Given the description of an element on the screen output the (x, y) to click on. 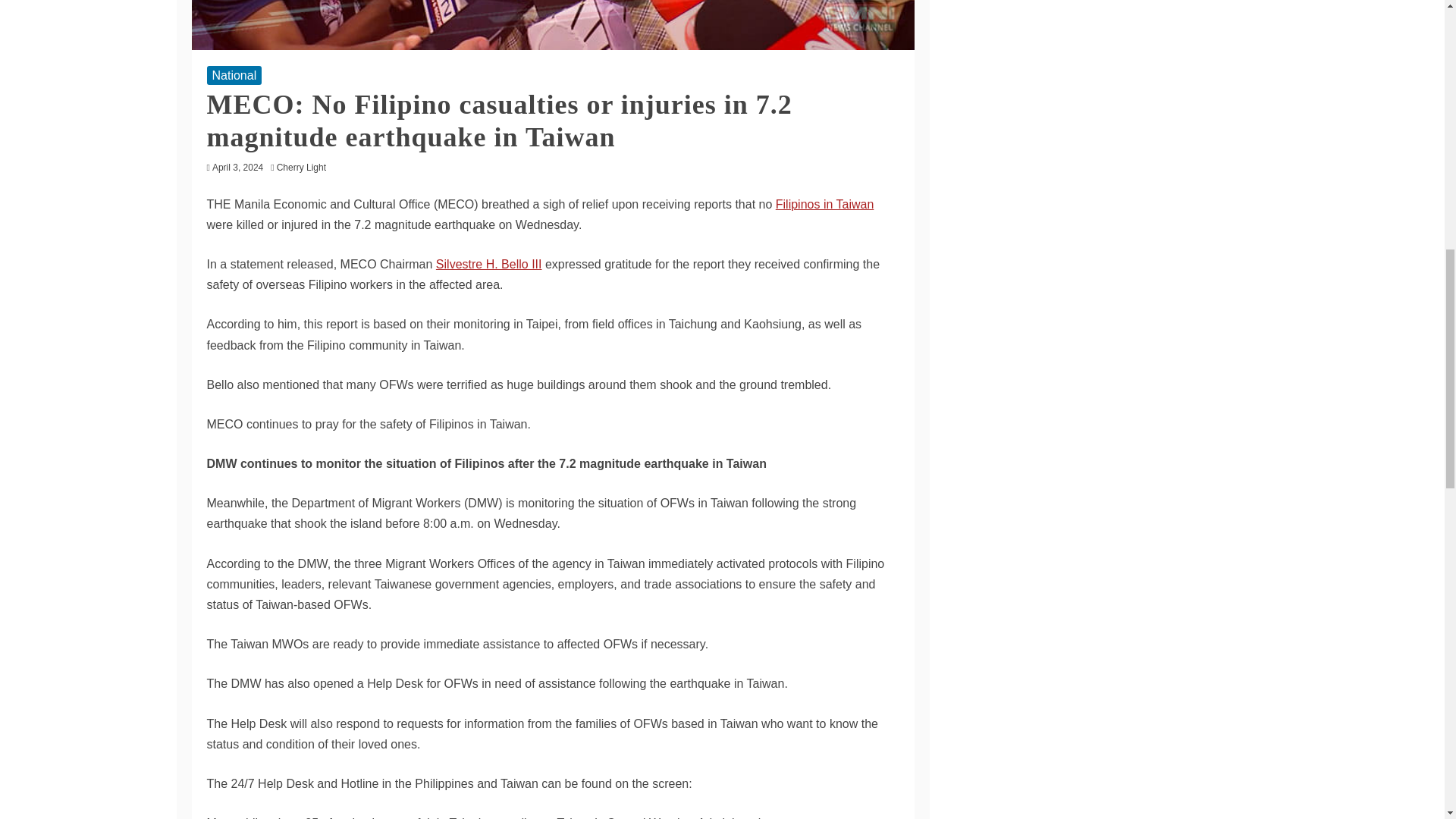
Silvestre H. Bello III (488, 264)
Filipinos in Taiwan (825, 204)
April 3, 2024 (237, 167)
National (234, 75)
Cherry Light (304, 167)
